Given the description of an element on the screen output the (x, y) to click on. 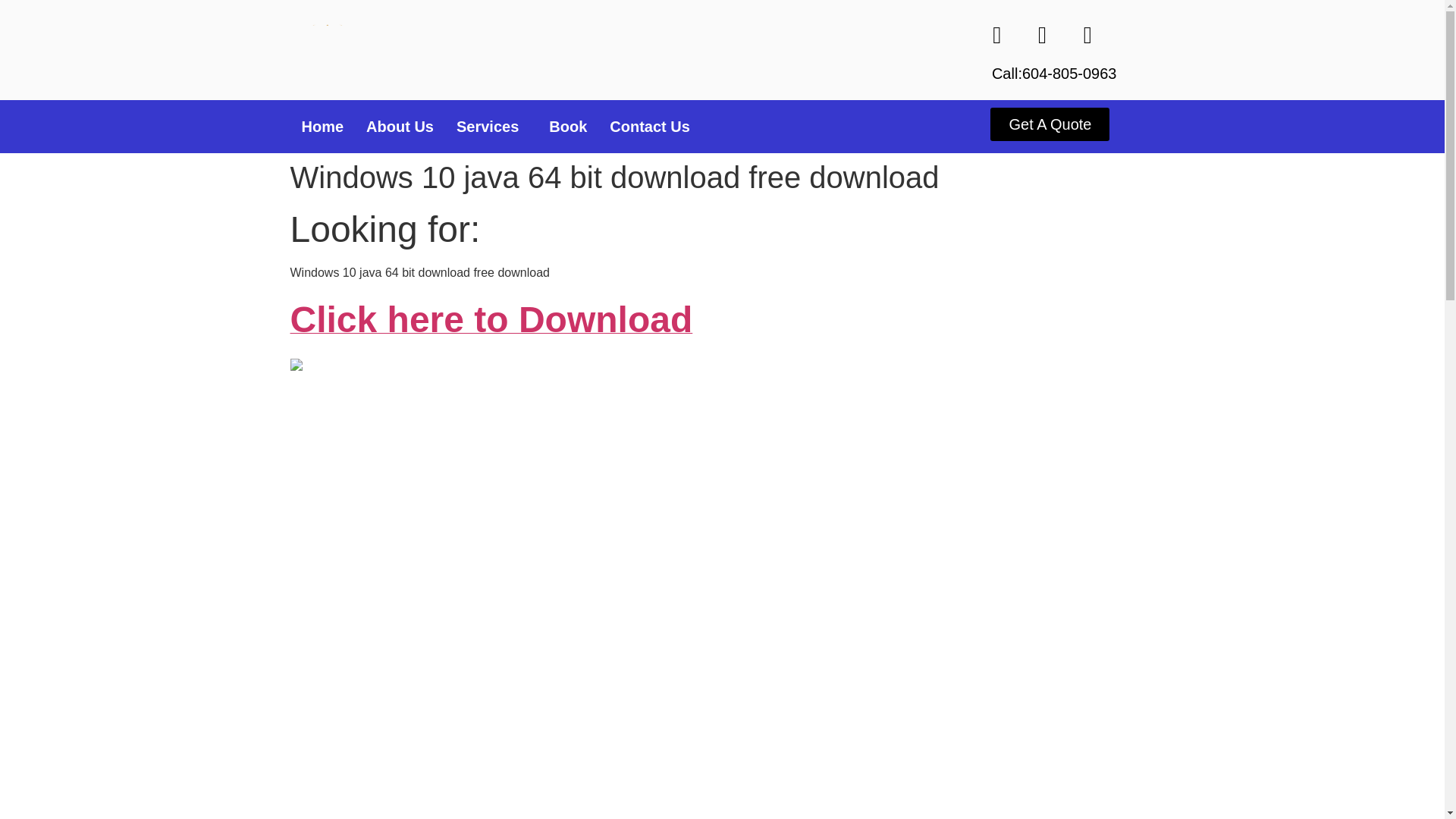
Services (491, 126)
Home (322, 126)
Book (567, 126)
Contact Us (649, 126)
Get A Quote (1049, 123)
About Us (400, 126)
Click here to Download (491, 327)
Call:604-805-0963 (1053, 73)
